Given the description of an element on the screen output the (x, y) to click on. 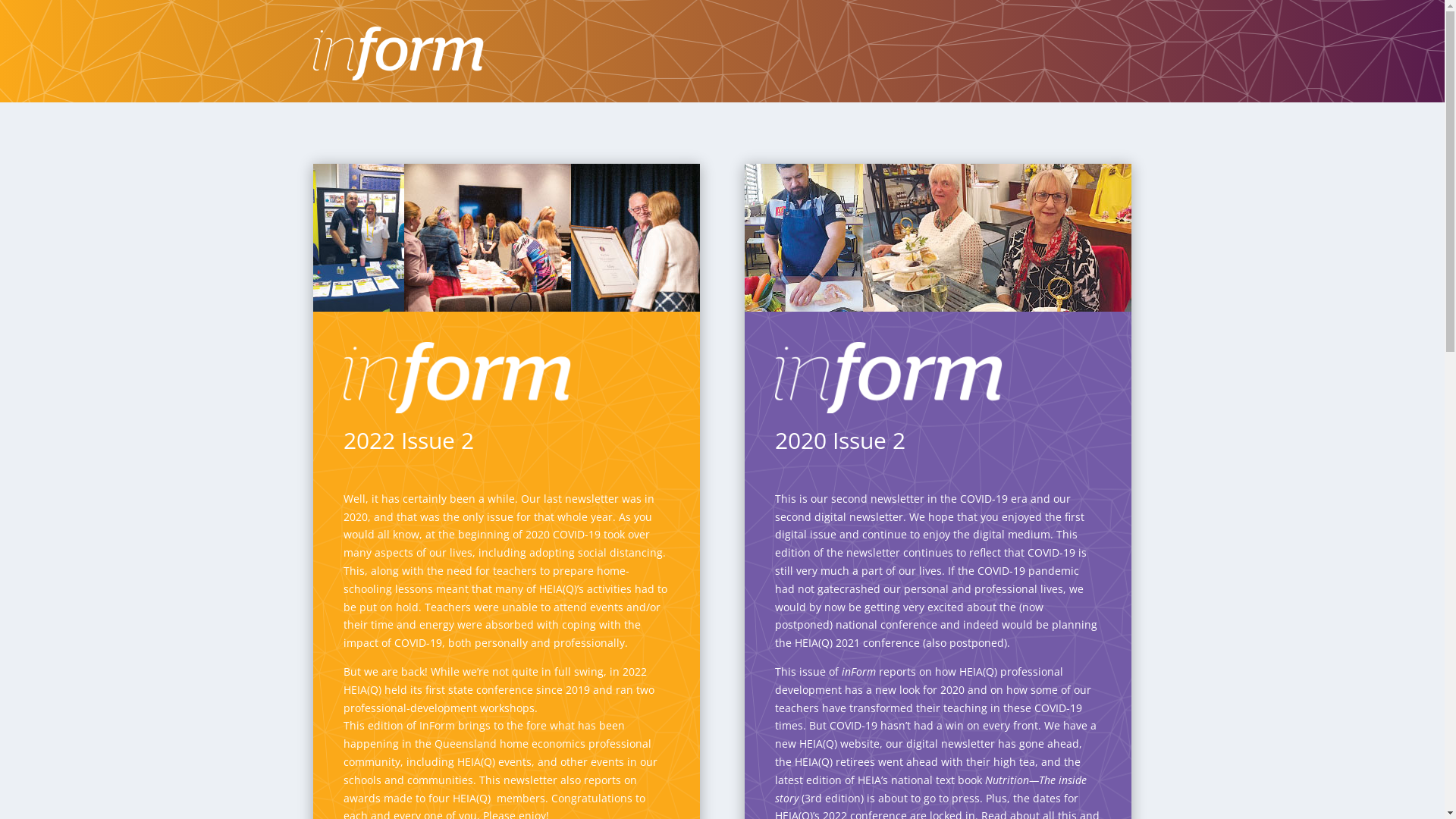
COVER-2022-02 Element type: hover (505, 237)
COVER-2020-02 Element type: hover (937, 237)
